Given the description of an element on the screen output the (x, y) to click on. 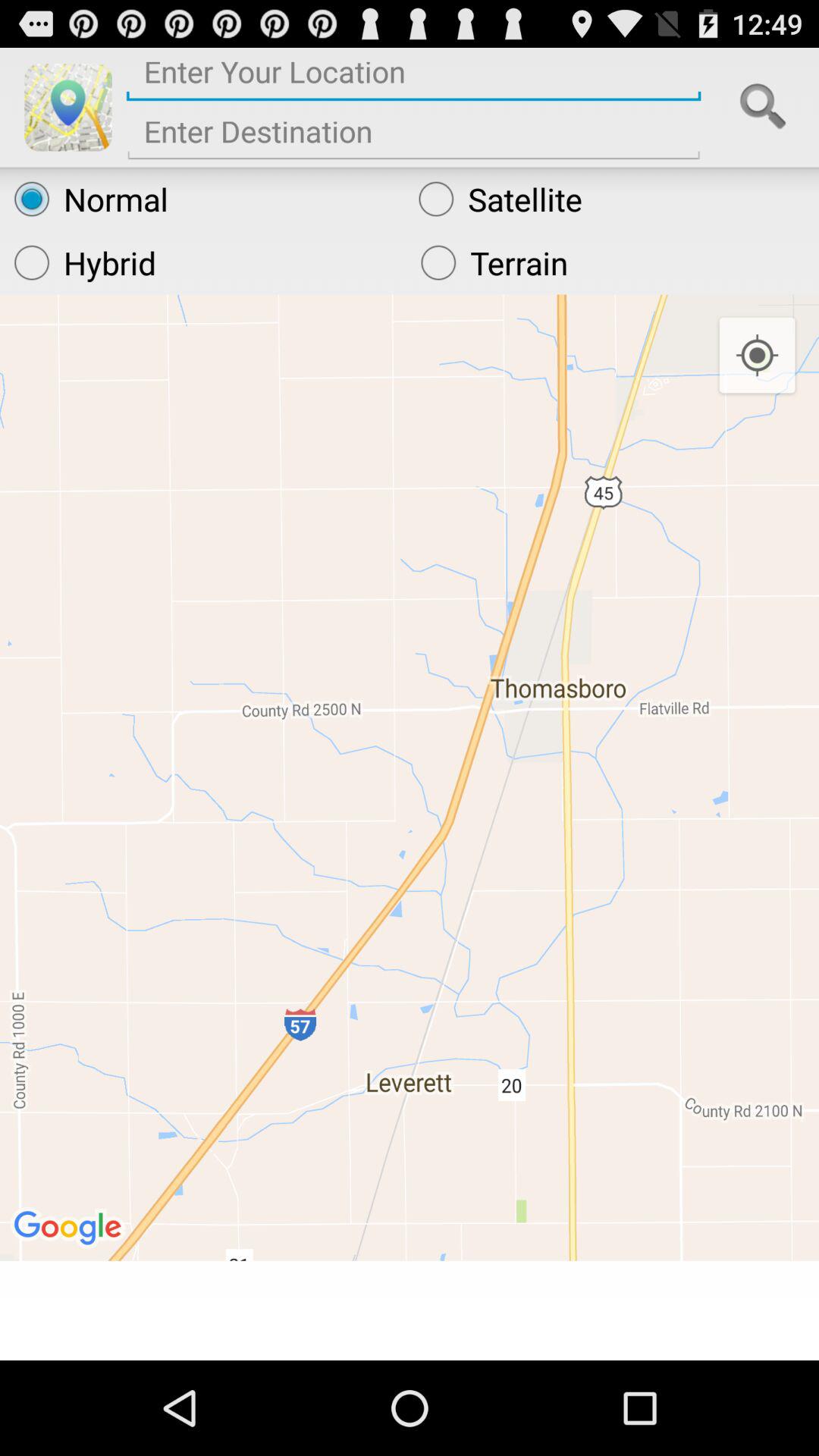
turn off radio button above the hybrid icon (202, 198)
